Given the description of an element on the screen output the (x, y) to click on. 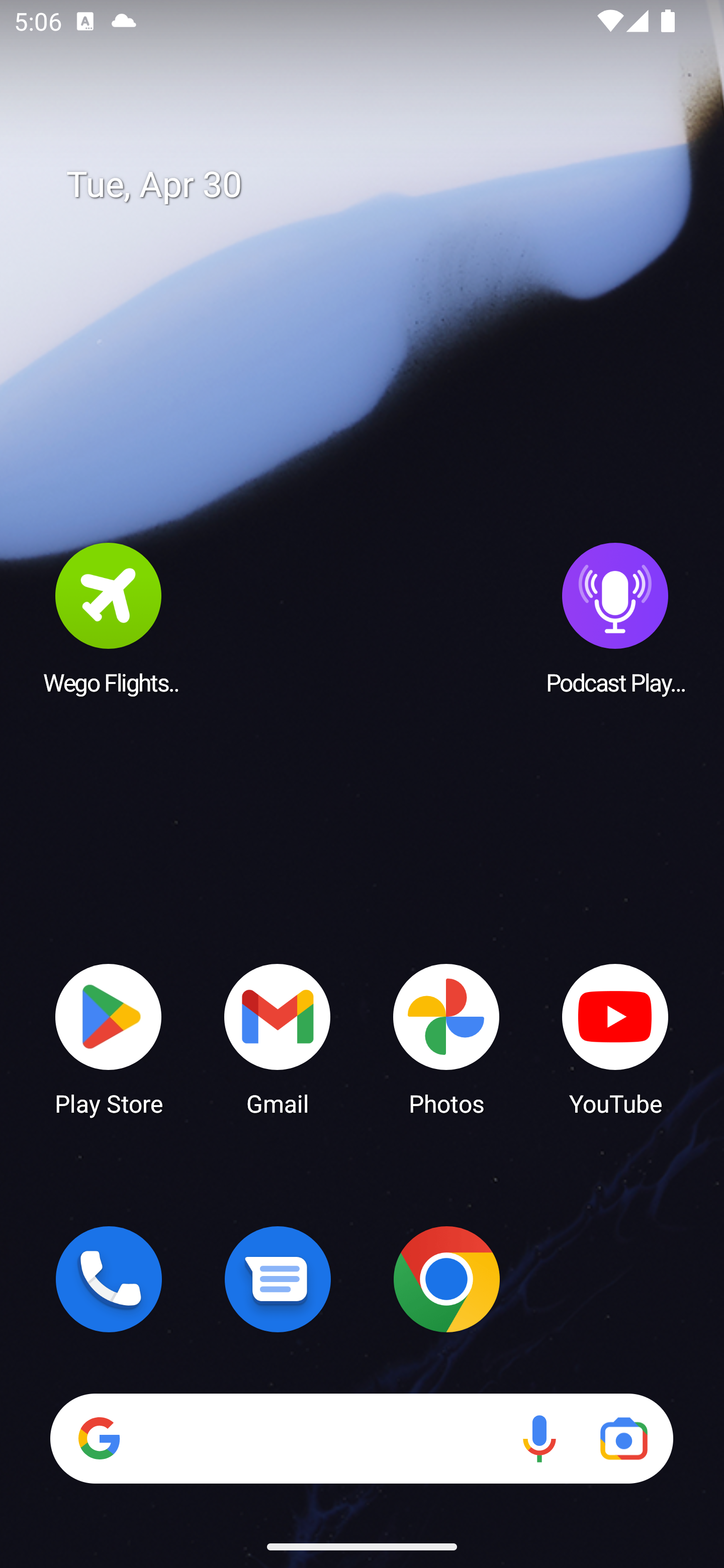
Tue, Apr 30 (375, 184)
Wego Flights & Hotels (108, 617)
Podcast Player (615, 617)
Play Store (108, 1038)
Gmail (277, 1038)
Photos (445, 1038)
YouTube (615, 1038)
Phone (108, 1279)
Messages (277, 1279)
Chrome (446, 1279)
Voice search (539, 1438)
Google Lens (623, 1438)
